Given the description of an element on the screen output the (x, y) to click on. 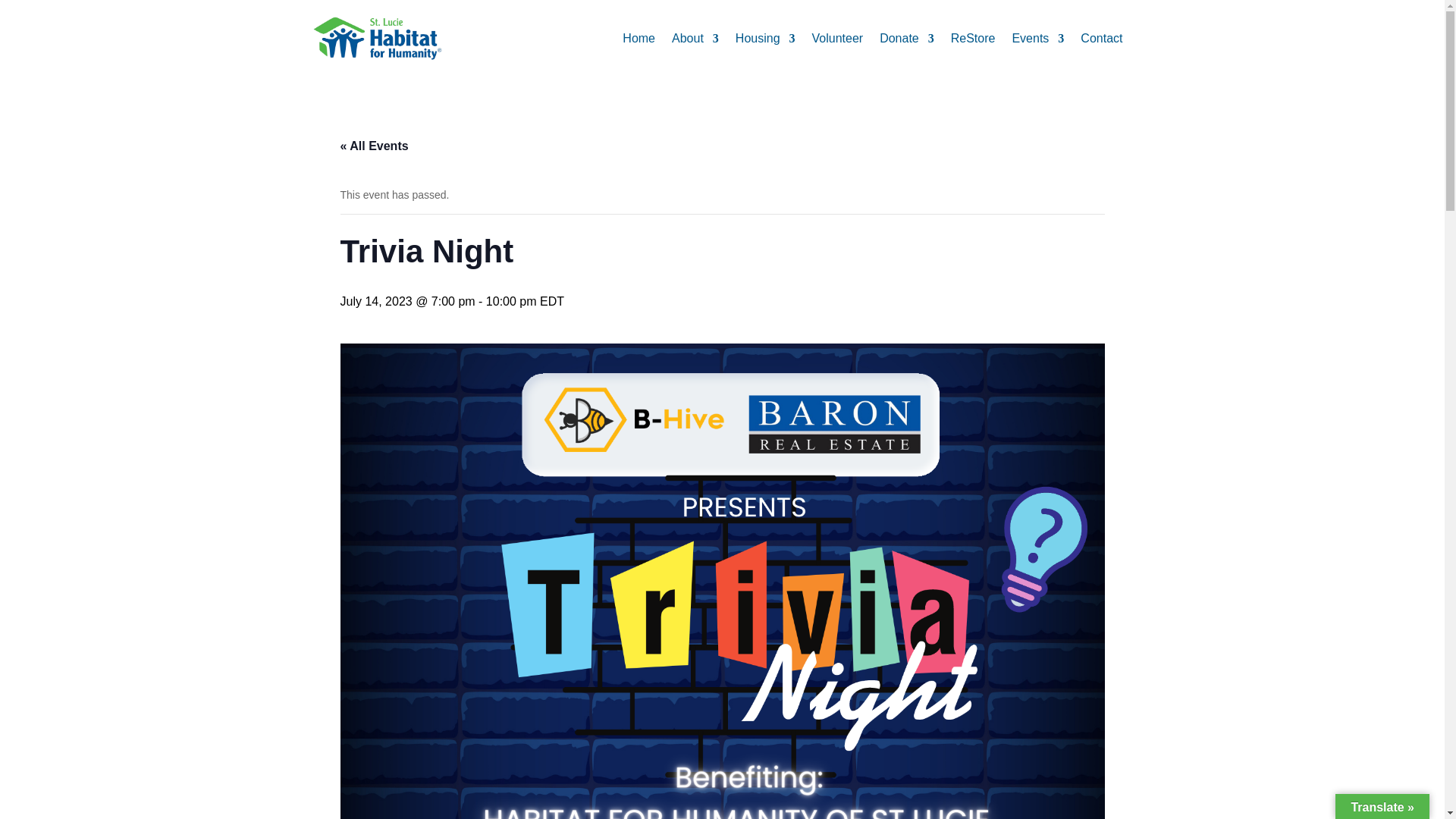
Housing (764, 37)
